Given the description of an element on the screen output the (x, y) to click on. 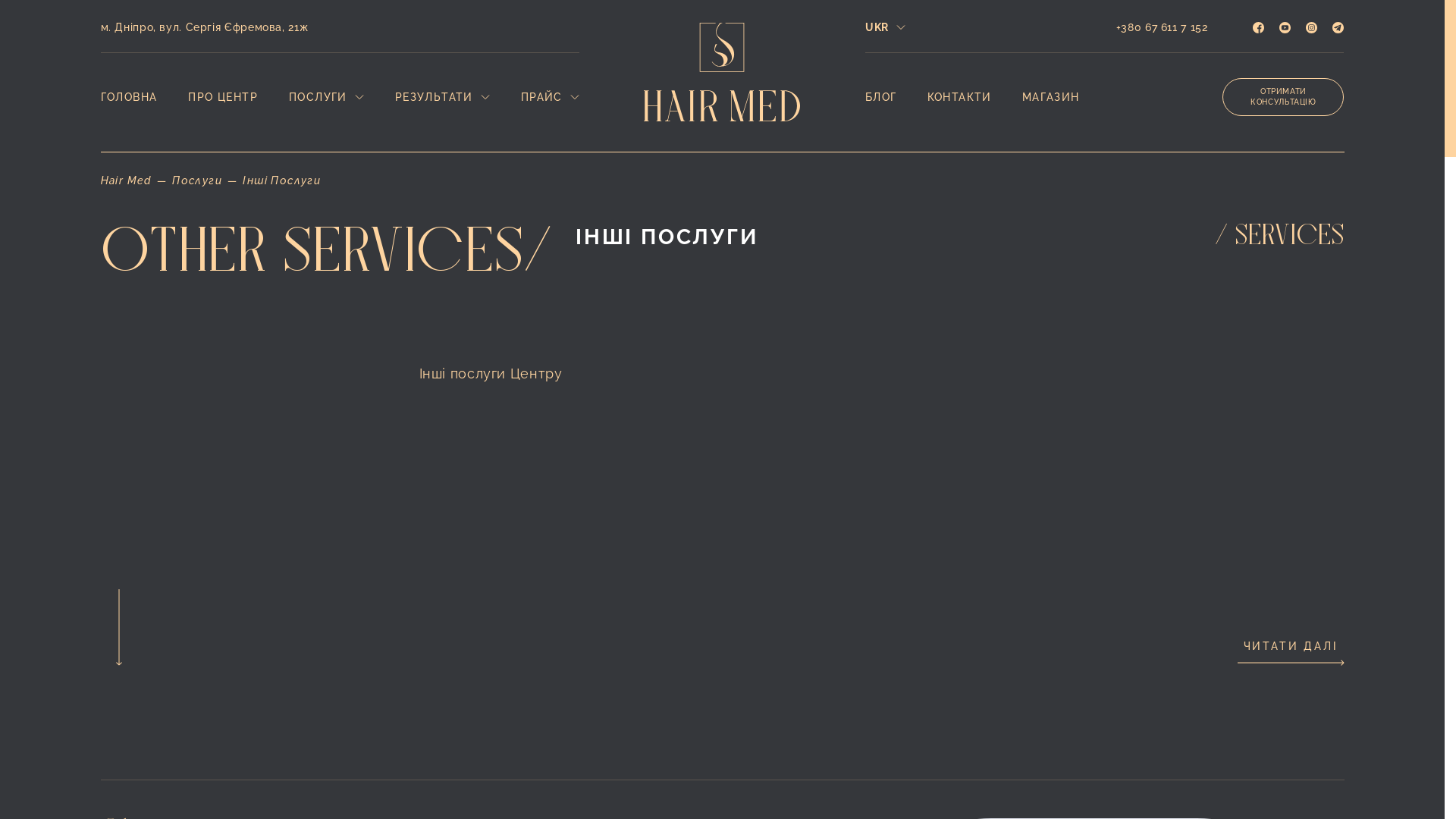
+380 67 611 7 152 Element type: text (1162, 27)
UKR Element type: text (885, 27)
Hair Med Element type: text (125, 180)
